Given the description of an element on the screen output the (x, y) to click on. 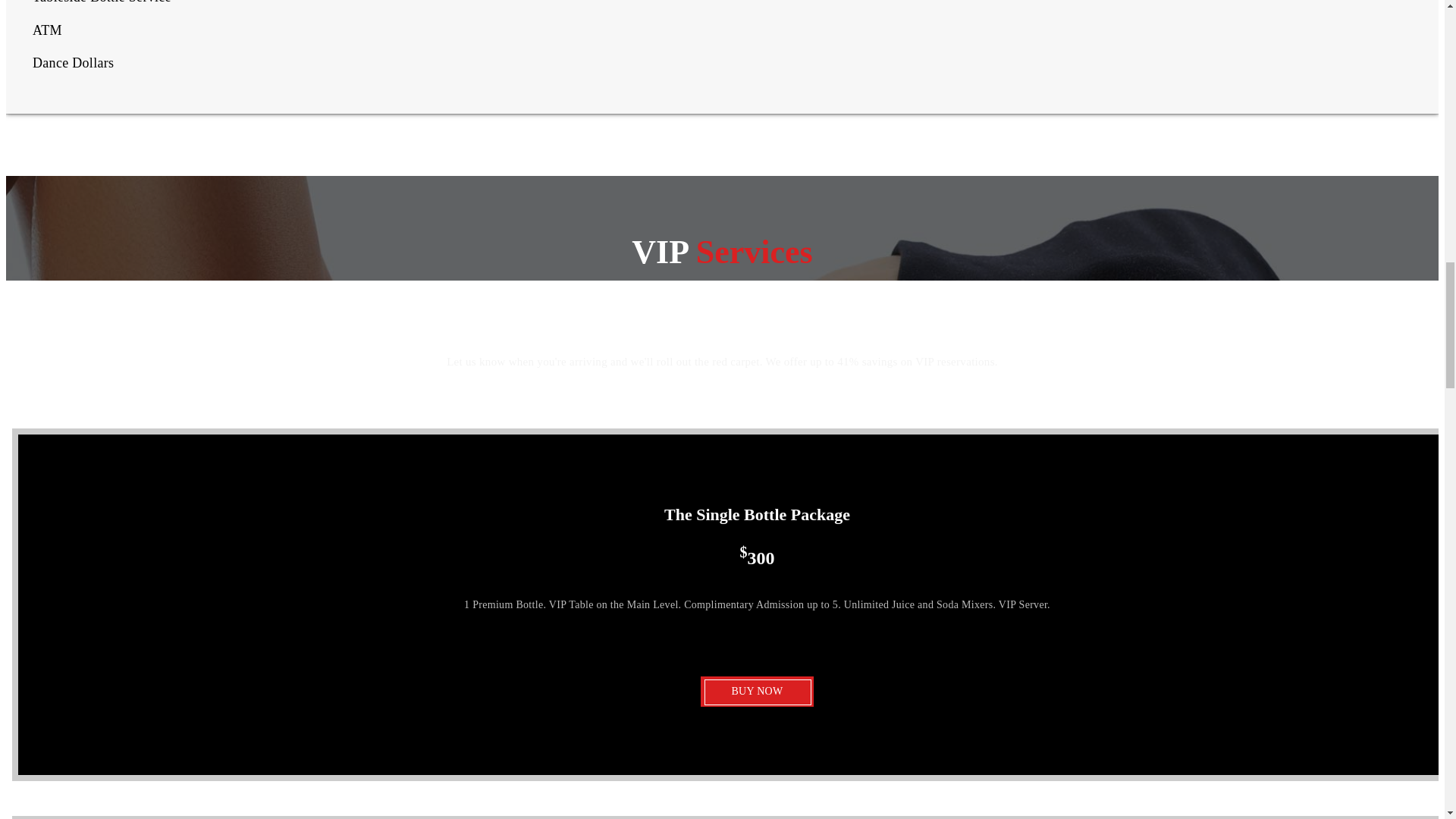
Buy Now (756, 691)
BUY NOW (756, 691)
